Given the description of an element on the screen output the (x, y) to click on. 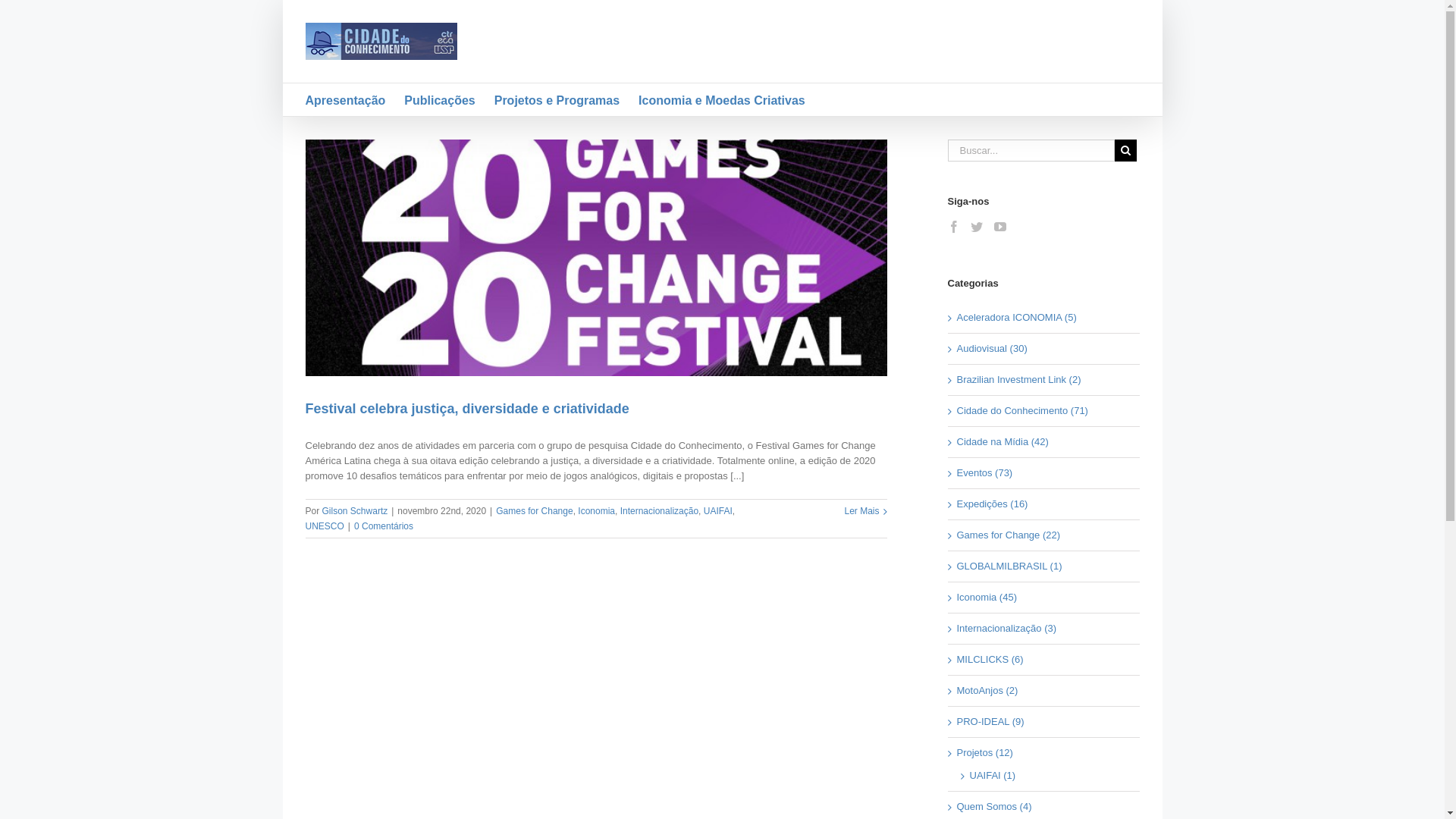
Projetos e Programas Element type: text (556, 99)
UAIFAI (1) Element type: text (1046, 775)
Iconomia Element type: text (596, 510)
Iconomia (45) Element type: text (1044, 597)
UNESCO Element type: text (323, 525)
Iconomia e Moedas Criativas Element type: text (721, 99)
Games for Change Element type: text (533, 510)
Aceleradora ICONOMIA (5) Element type: text (1044, 317)
Cidade do Conhecimento (71) Element type: text (1044, 410)
GLOBALMILBRASIL (1) Element type: text (1044, 566)
Games for Change (22) Element type: text (1044, 534)
UAIFAI Element type: text (717, 510)
Projetos (12) Element type: text (1044, 752)
Eventos (73) Element type: text (1044, 472)
Brazilian Investment Link (2) Element type: text (1044, 379)
Audiovisual (30) Element type: text (1044, 348)
Quem Somos (4) Element type: text (1044, 806)
Ler Mais Element type: text (861, 510)
MILCLICKS (6) Element type: text (1044, 659)
Gilson Schwartz Element type: text (355, 510)
PRO-IDEAL (9) Element type: text (1044, 721)
MotoAnjos (2) Element type: text (1044, 690)
